Given the description of an element on the screen output the (x, y) to click on. 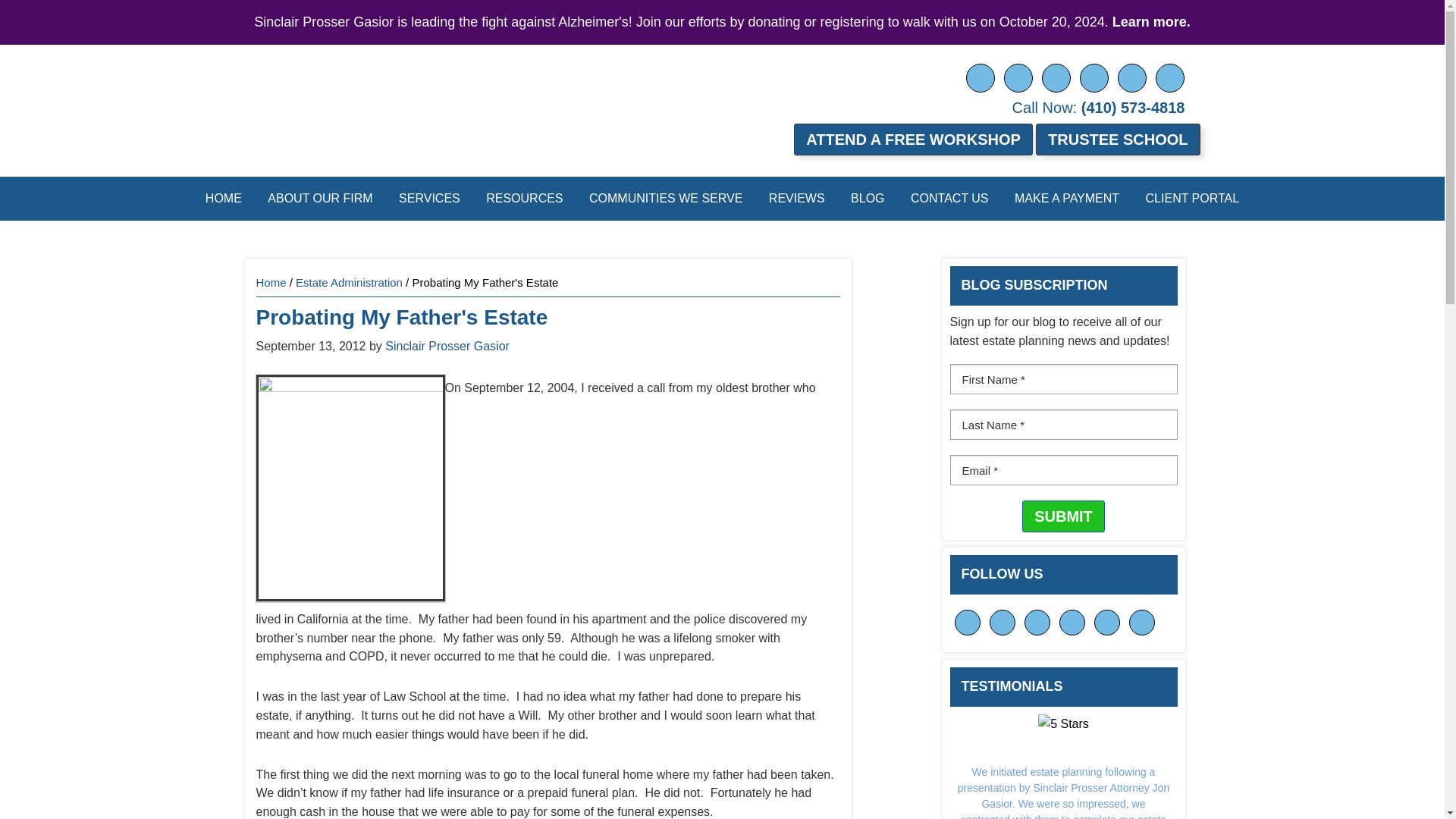
Submit (1063, 516)
Learn more. (1151, 21)
RESOURCES (523, 198)
HOME (223, 198)
Sinclair Prosser Gasior (433, 99)
Sinclair Prosser Gasior (433, 99)
ABOUT OUR FIRM (320, 198)
TRUSTEE SCHOOL (1117, 139)
SERVICES (429, 198)
